Given the description of an element on the screen output the (x, y) to click on. 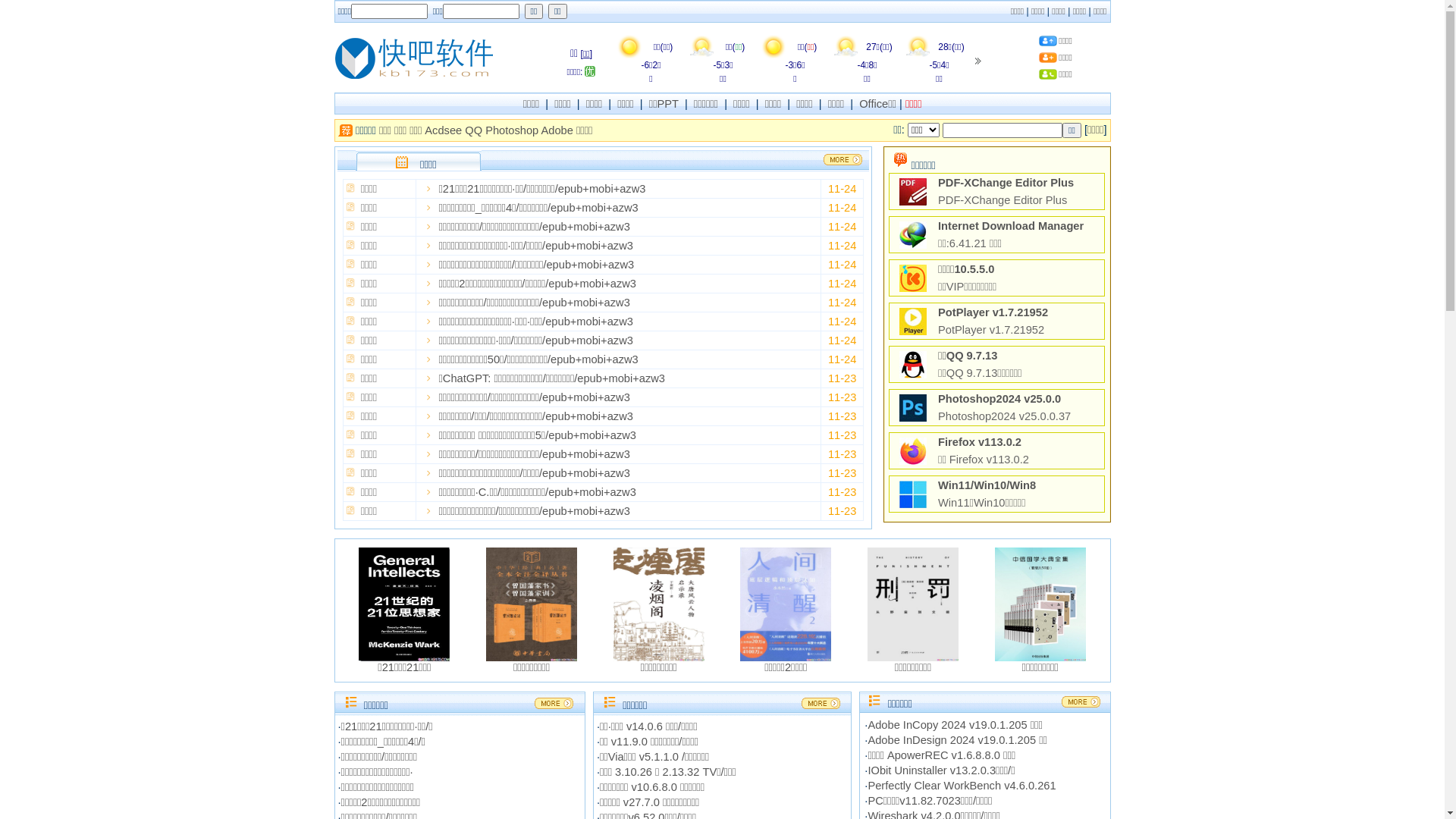
PDF-XChange Editor Plus Element type: text (1005, 182)
Internet Download Manager Element type: text (1010, 225)
Photoshop2024 v25.0.0 Element type: text (999, 398)
QQ Element type: text (473, 130)
Firefox v113.0.2 Element type: text (979, 442)
Acdsee Element type: text (442, 130)
Photoshop Element type: text (511, 130)
Adobe Element type: text (557, 130)
PotPlayer v1.7.21952 Element type: text (993, 312)
Perfectly Clear WorkBench v4.6.0.261 Element type: text (961, 785)
Win11/Win10/Win8 Element type: text (986, 485)
